Given the description of an element on the screen output the (x, y) to click on. 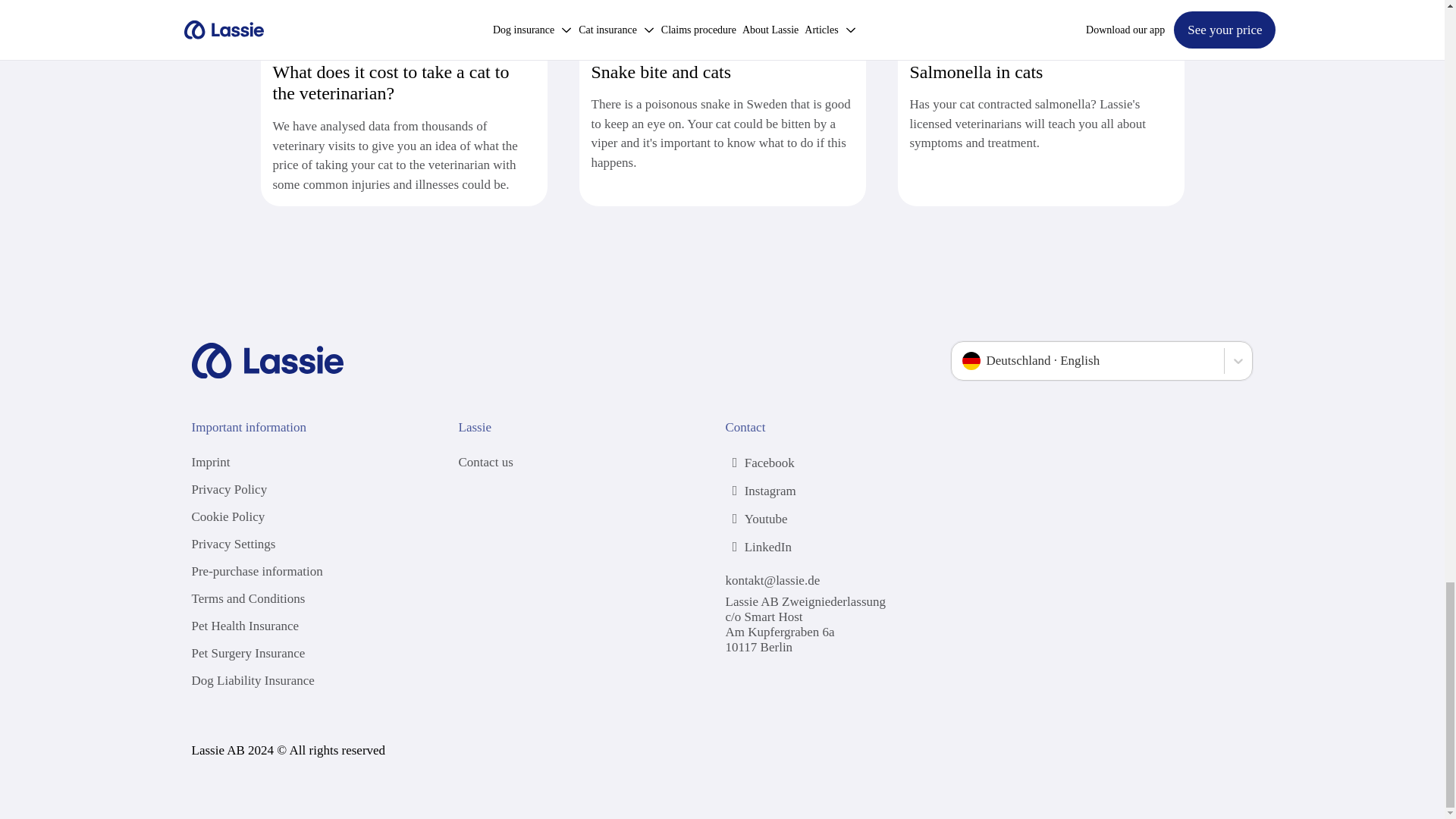
Privacy Policy (228, 489)
Imprint (210, 461)
